Given the description of an element on the screen output the (x, y) to click on. 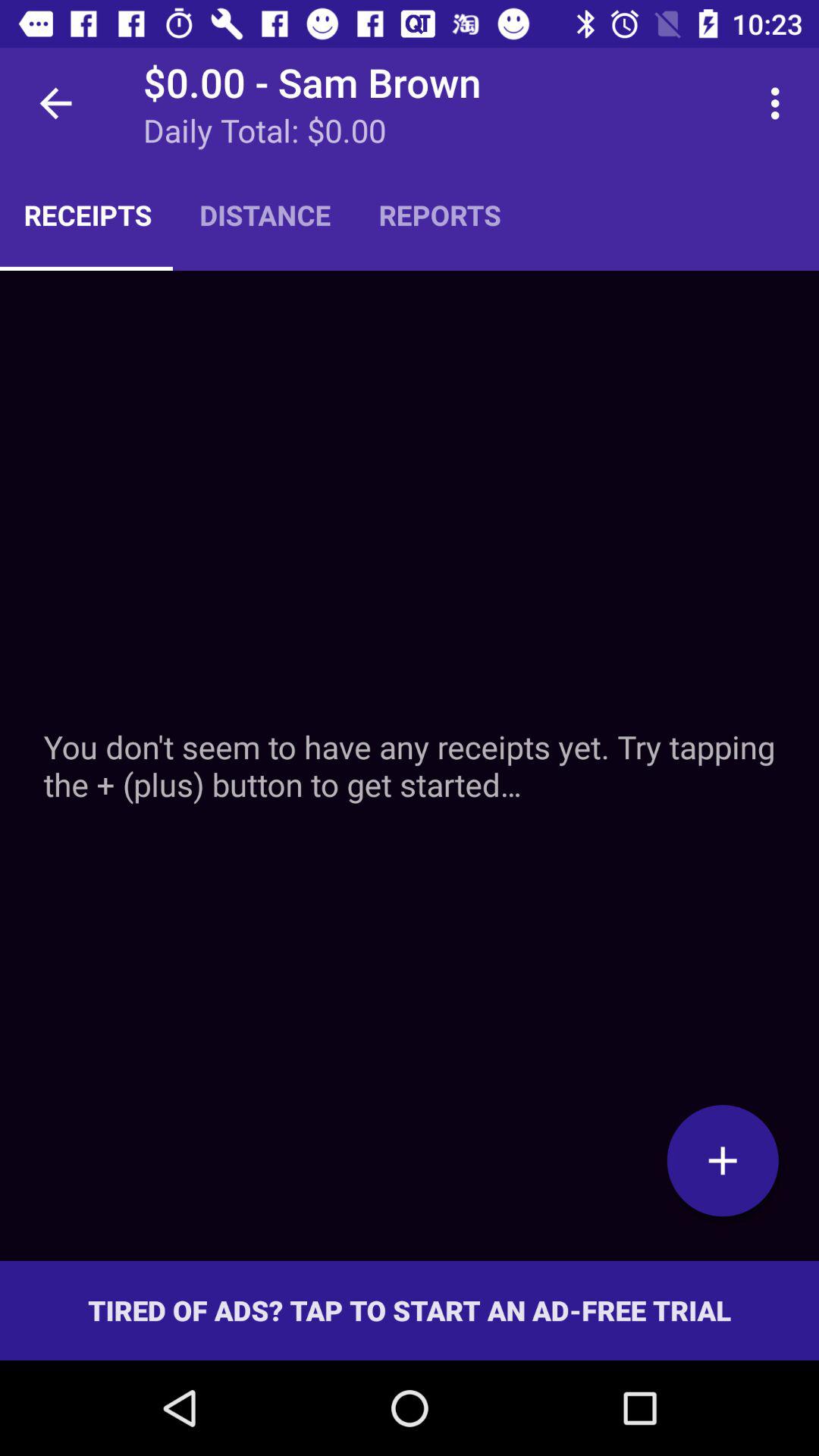
turn off tired of ads (409, 1310)
